Given the description of an element on the screen output the (x, y) to click on. 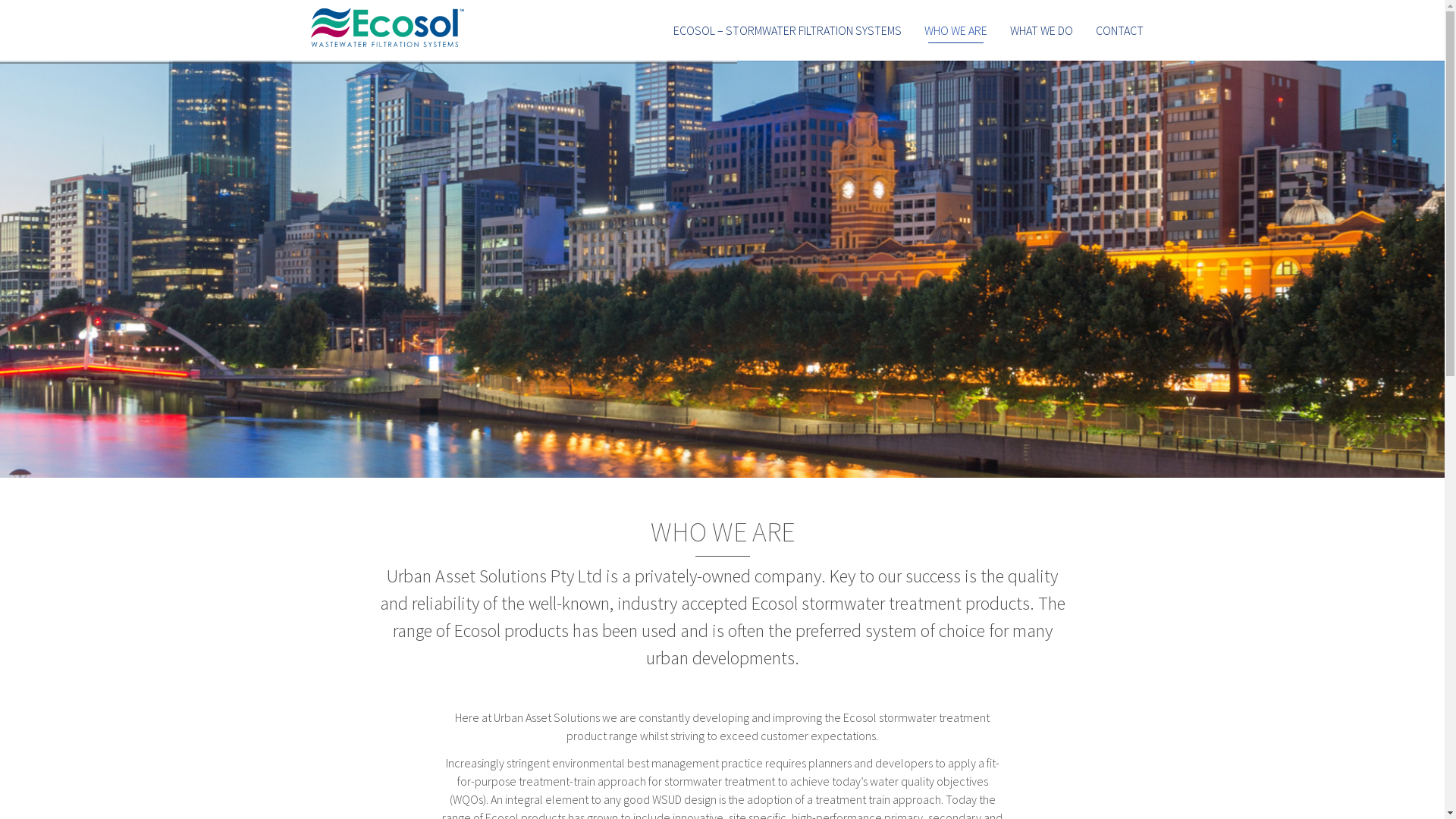
CONTACT Element type: text (1119, 30)
WHAT WE DO Element type: text (1040, 30)
WHO WE ARE Element type: text (955, 30)
